Given the description of an element on the screen output the (x, y) to click on. 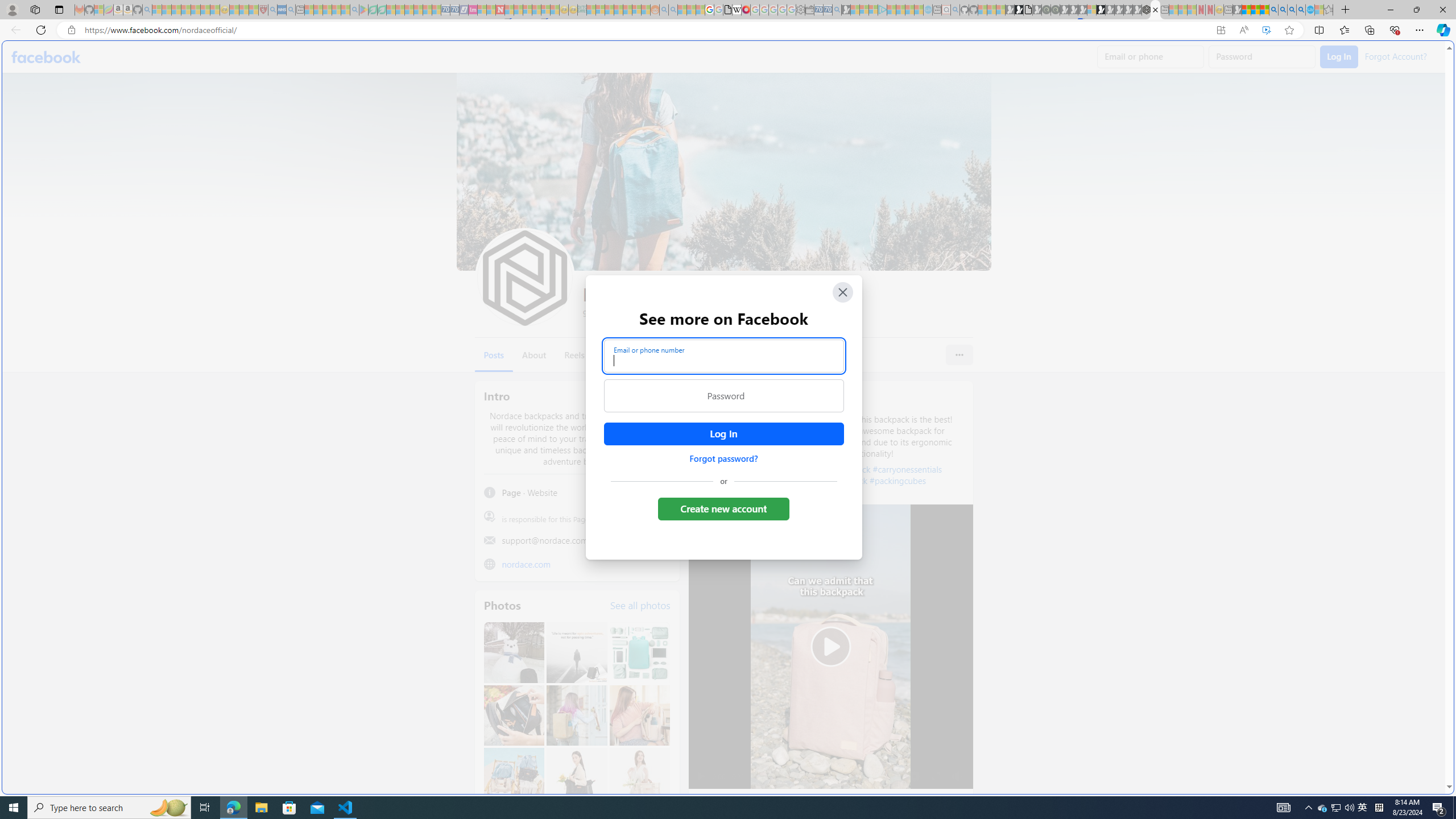
Tabs you've opened (885, 151)
